Given the description of an element on the screen output the (x, y) to click on. 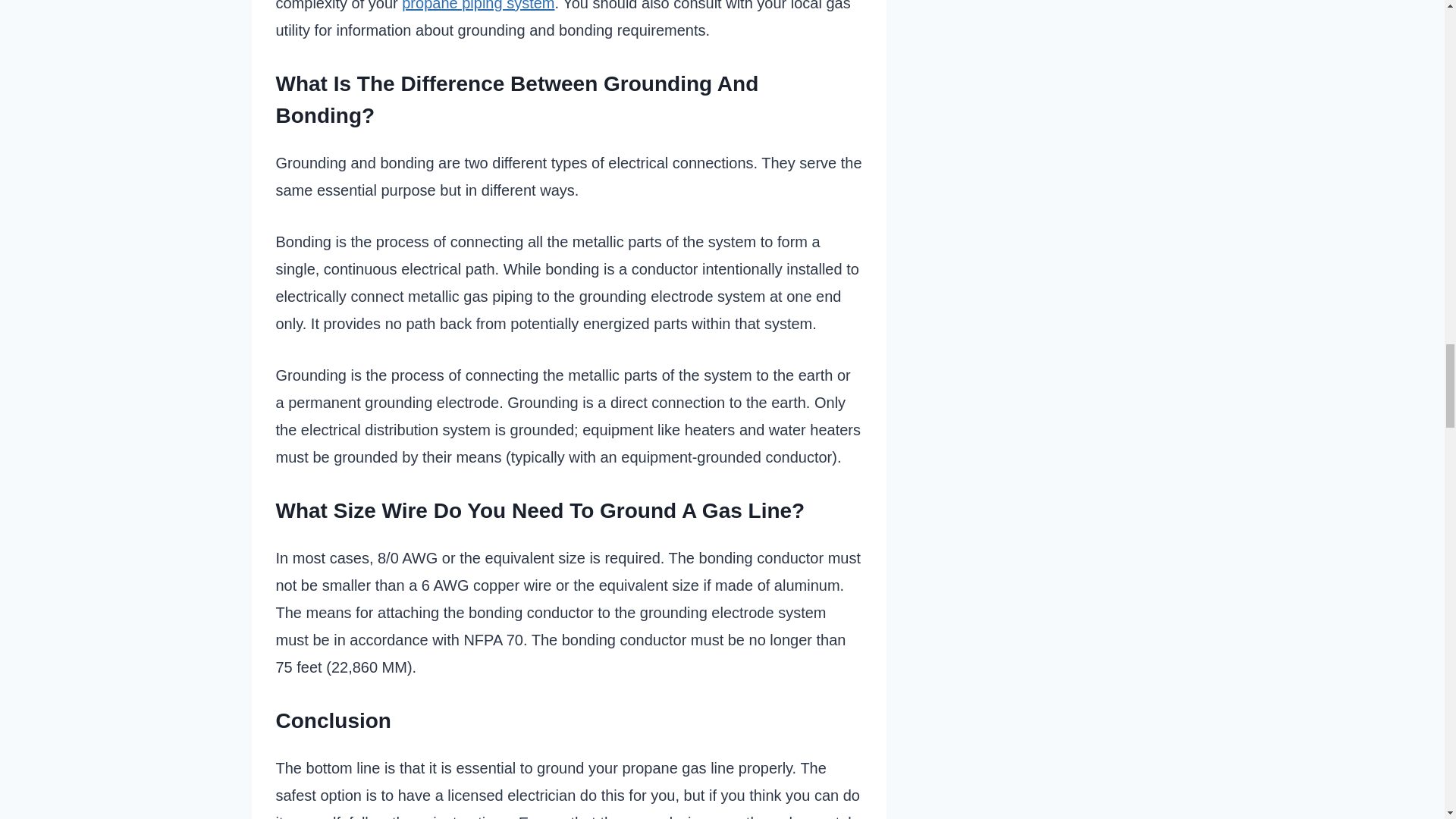
propane piping system (477, 5)
